Given the description of an element on the screen output the (x, y) to click on. 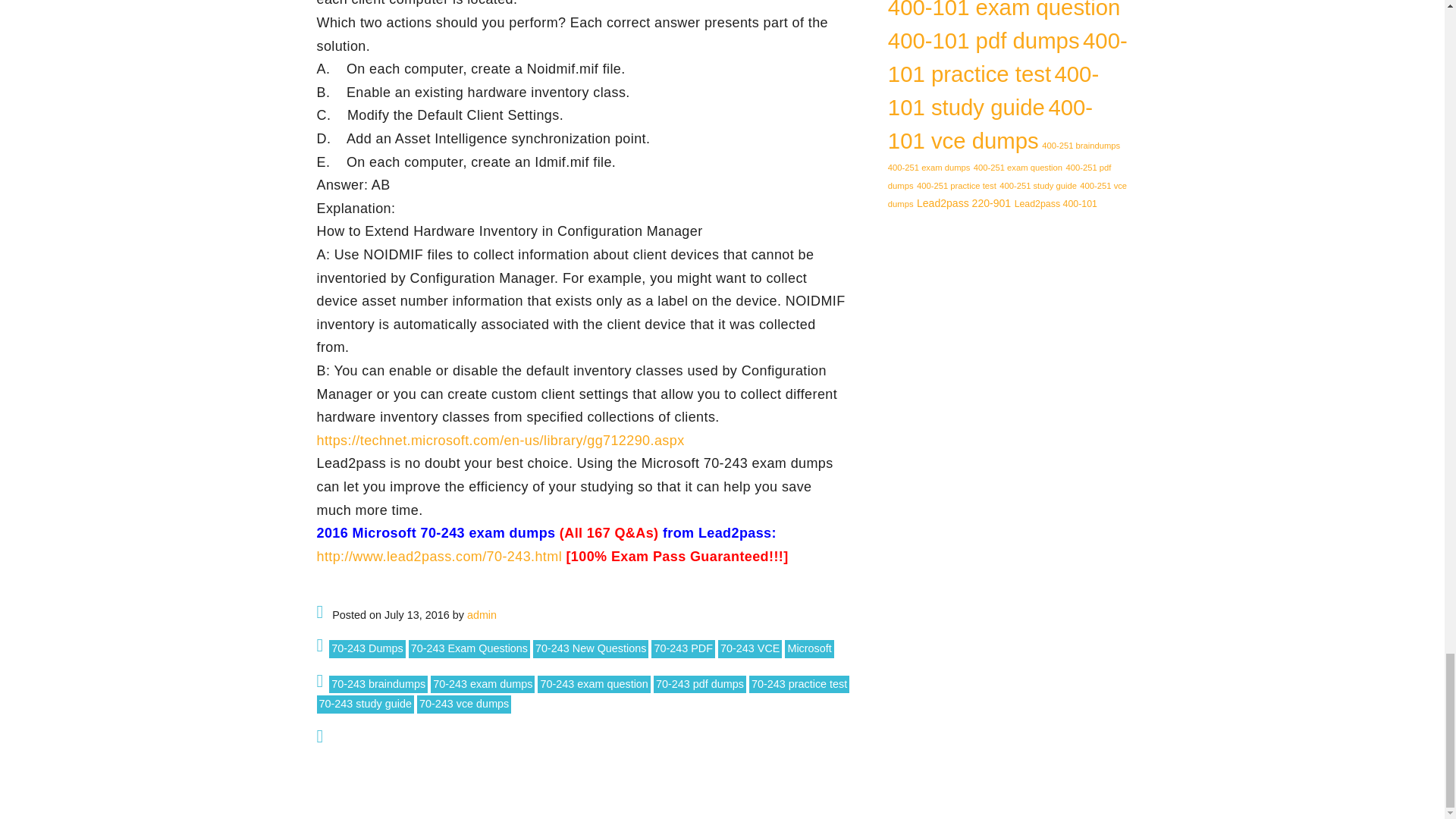
70-243 Exam Questions (469, 648)
Posts by admin (481, 614)
70-243 practice test (798, 684)
70-243 vce dumps (463, 704)
70-243 pdf dumps (699, 684)
70-243 Dumps (366, 648)
70-243 braindumps (378, 684)
70-243 VCE (749, 648)
70-243 PDF (682, 648)
admin (481, 614)
